Given the description of an element on the screen output the (x, y) to click on. 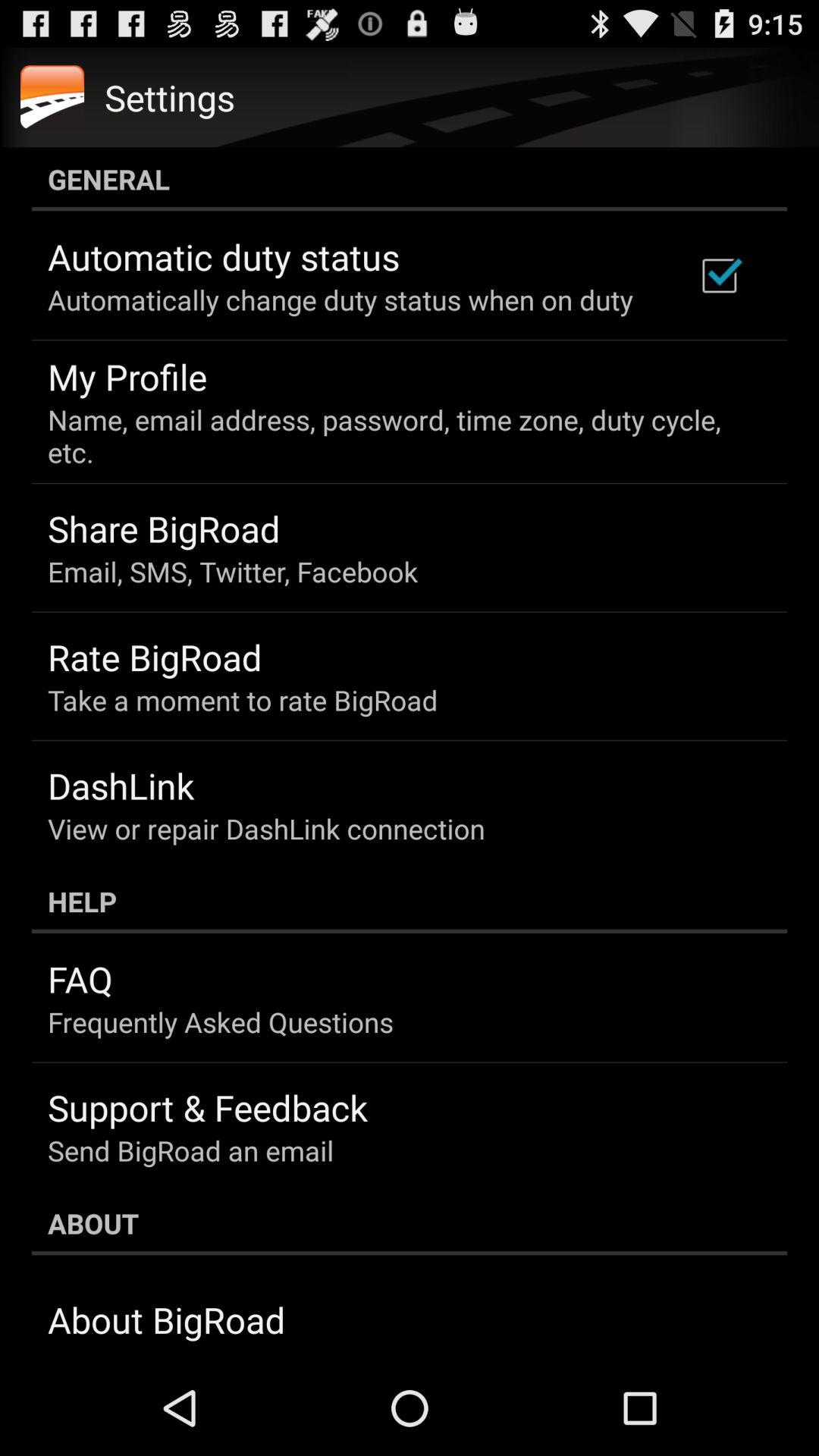
turn off icon below general icon (719, 275)
